Given the description of an element on the screen output the (x, y) to click on. 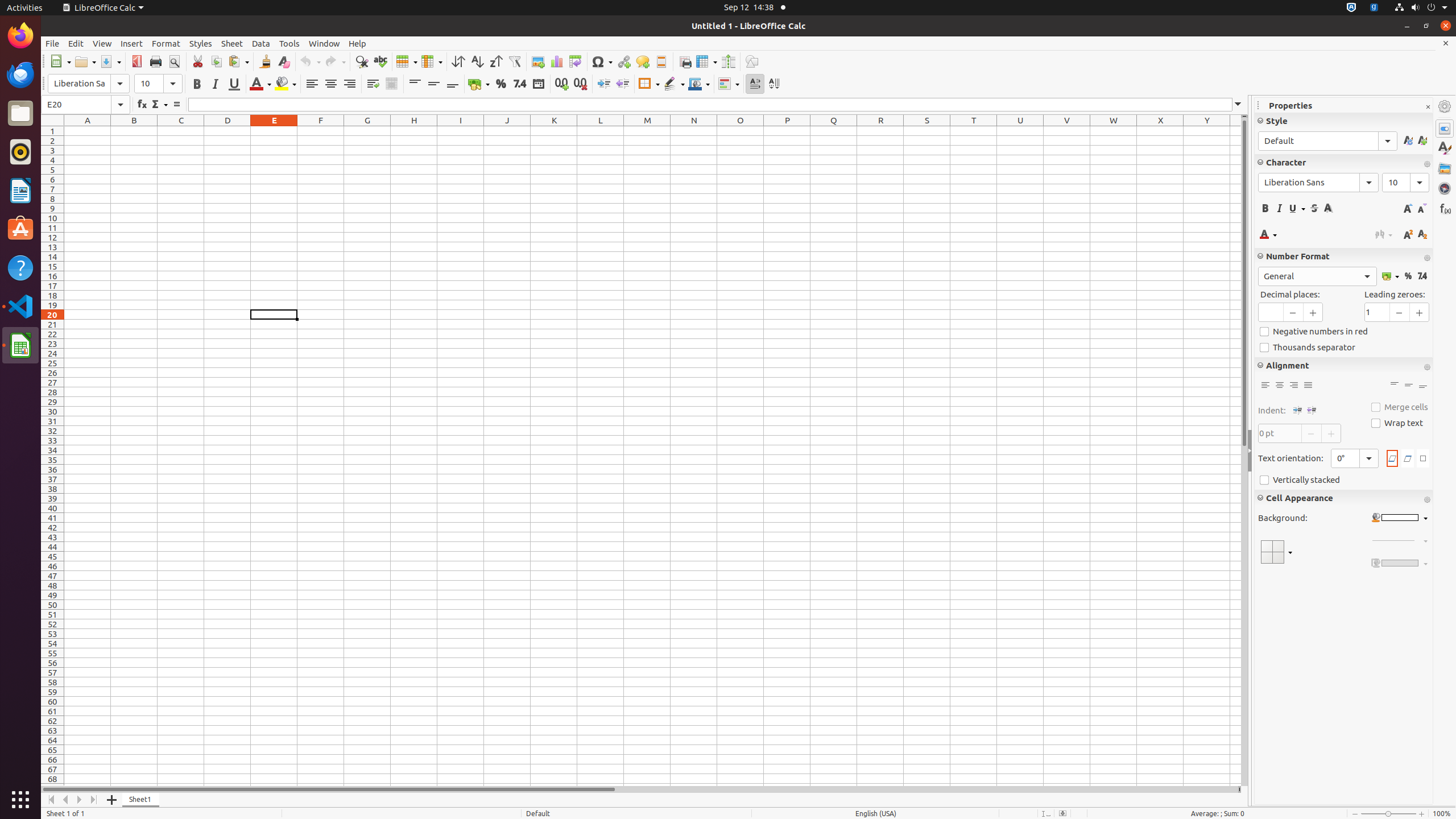
New Element type: push-button (59, 61)
Update Element type: push-button (1407, 140)
PDF Element type: push-button (136, 61)
Styles Element type: radio-button (1444, 148)
Background Color Element type: push-button (285, 83)
